Given the description of an element on the screen output the (x, y) to click on. 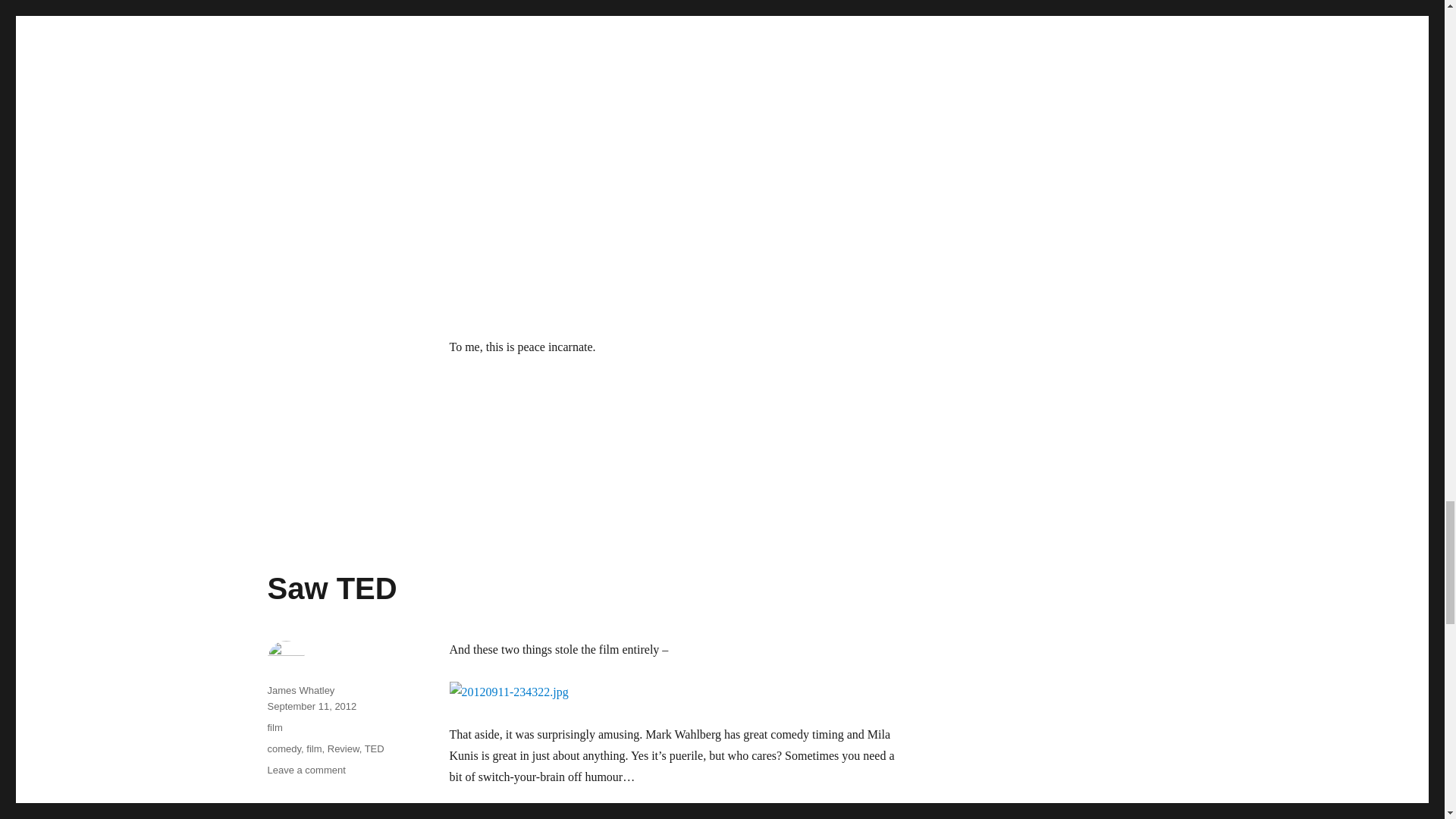
worth seeing (521, 816)
Saw TED (331, 588)
